Given the description of an element on the screen output the (x, y) to click on. 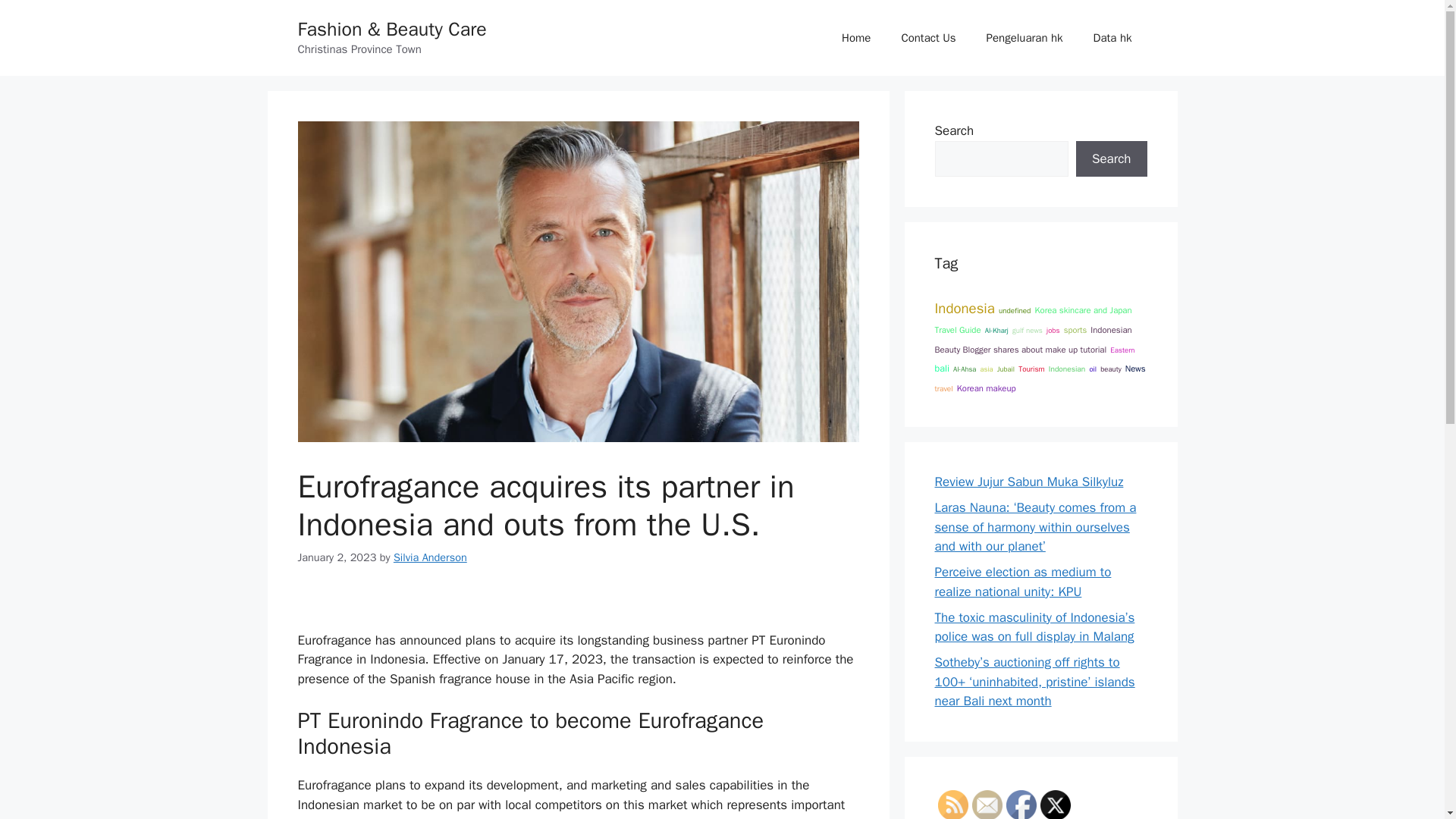
Al-Kharj (997, 329)
Eastern (1121, 349)
Facebook (1020, 804)
Follow by Email (987, 804)
Search (1111, 158)
News (1135, 368)
Contact Us (928, 37)
RSS (952, 804)
Jubail (1005, 368)
undefined (1014, 310)
